Given the description of an element on the screen output the (x, y) to click on. 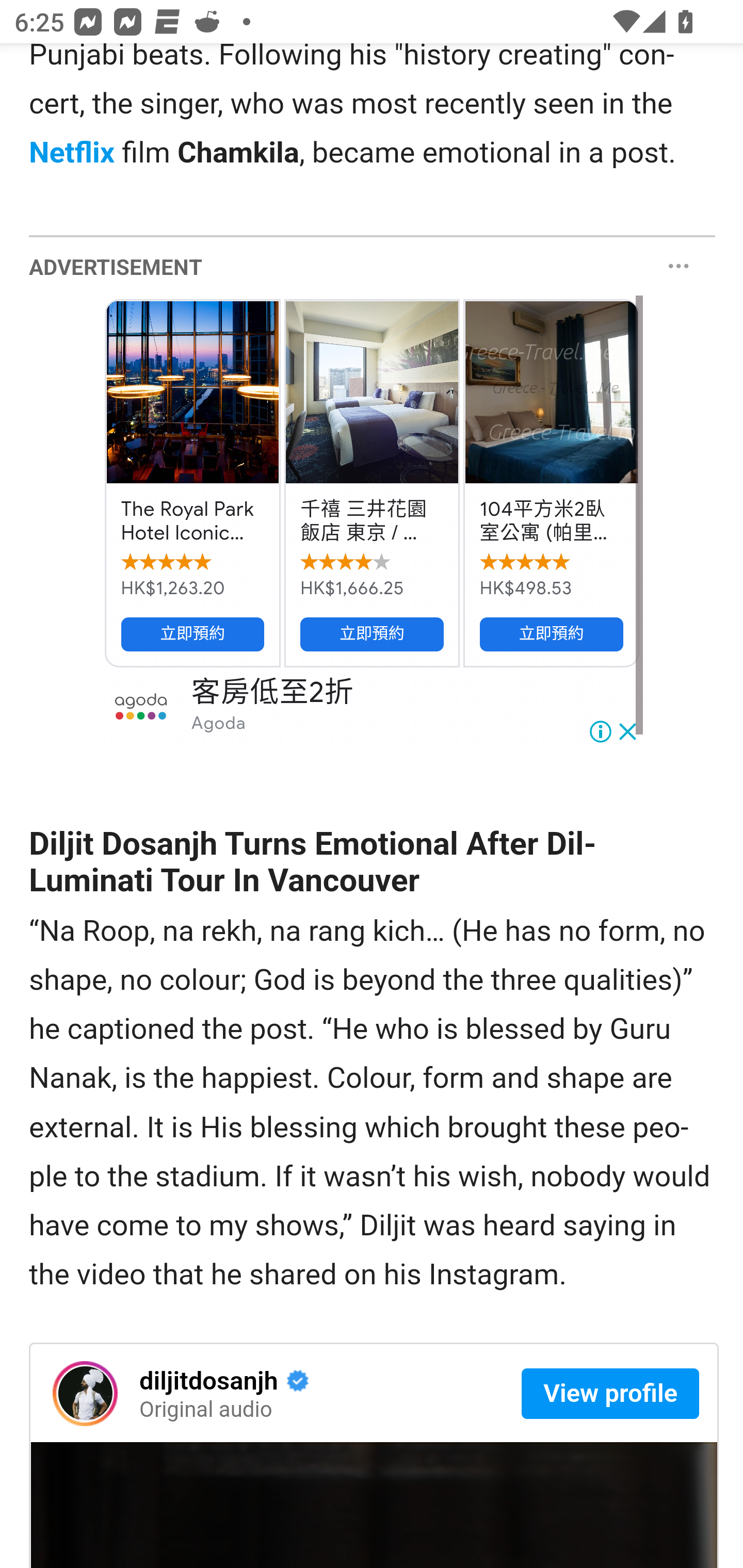
Netflix (71, 153)
diljitdosanjh Verified diljitdosanjh (260, 1381)
diljitdosanjh (85, 1393)
View profile (610, 1394)
